Given the description of an element on the screen output the (x, y) to click on. 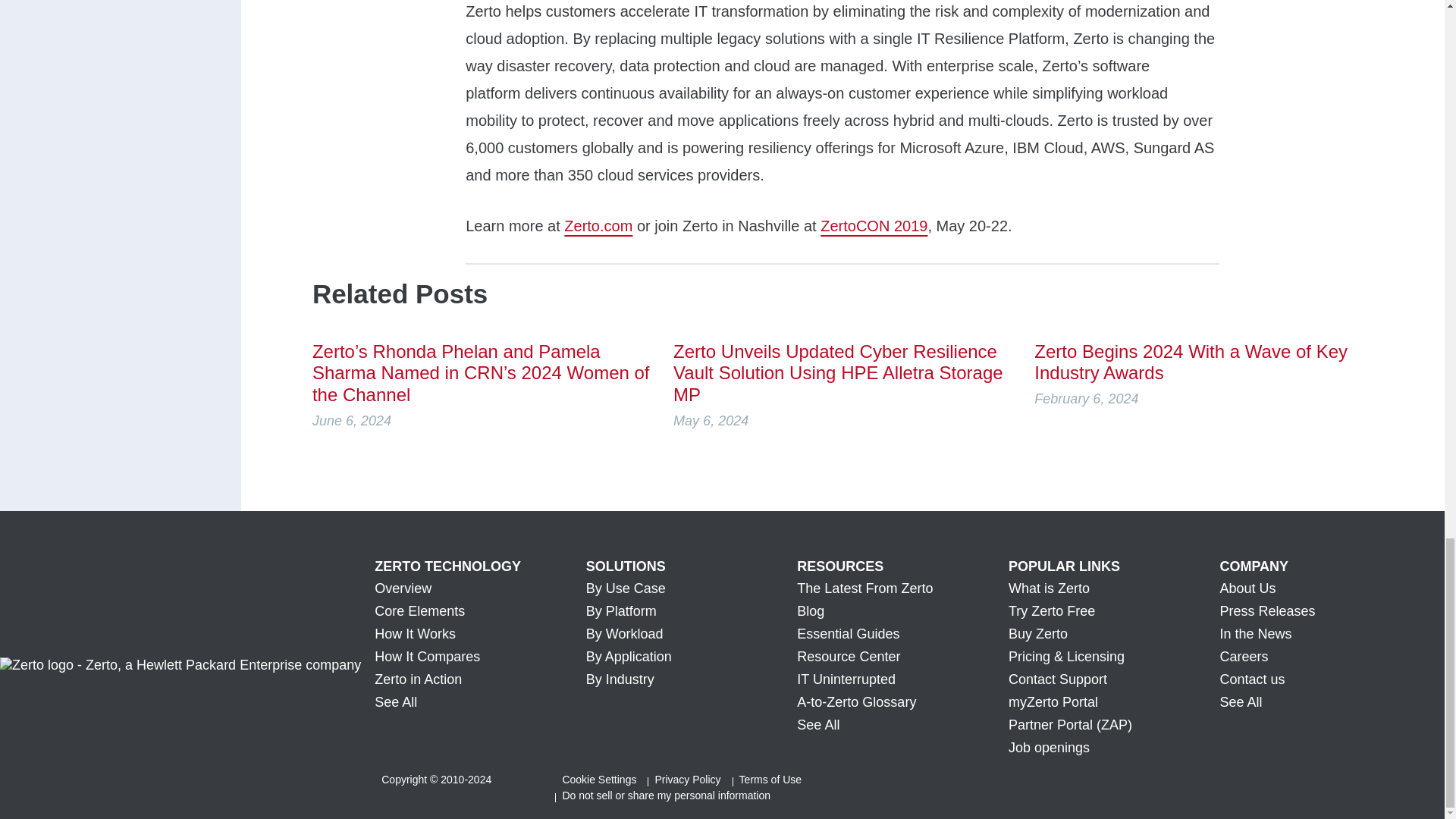
Core Elements (480, 611)
Zerto in Action (480, 680)
How It Compares (480, 657)
Zerto Technology (480, 566)
How It Works (480, 634)
Overview (480, 589)
